Given the description of an element on the screen output the (x, y) to click on. 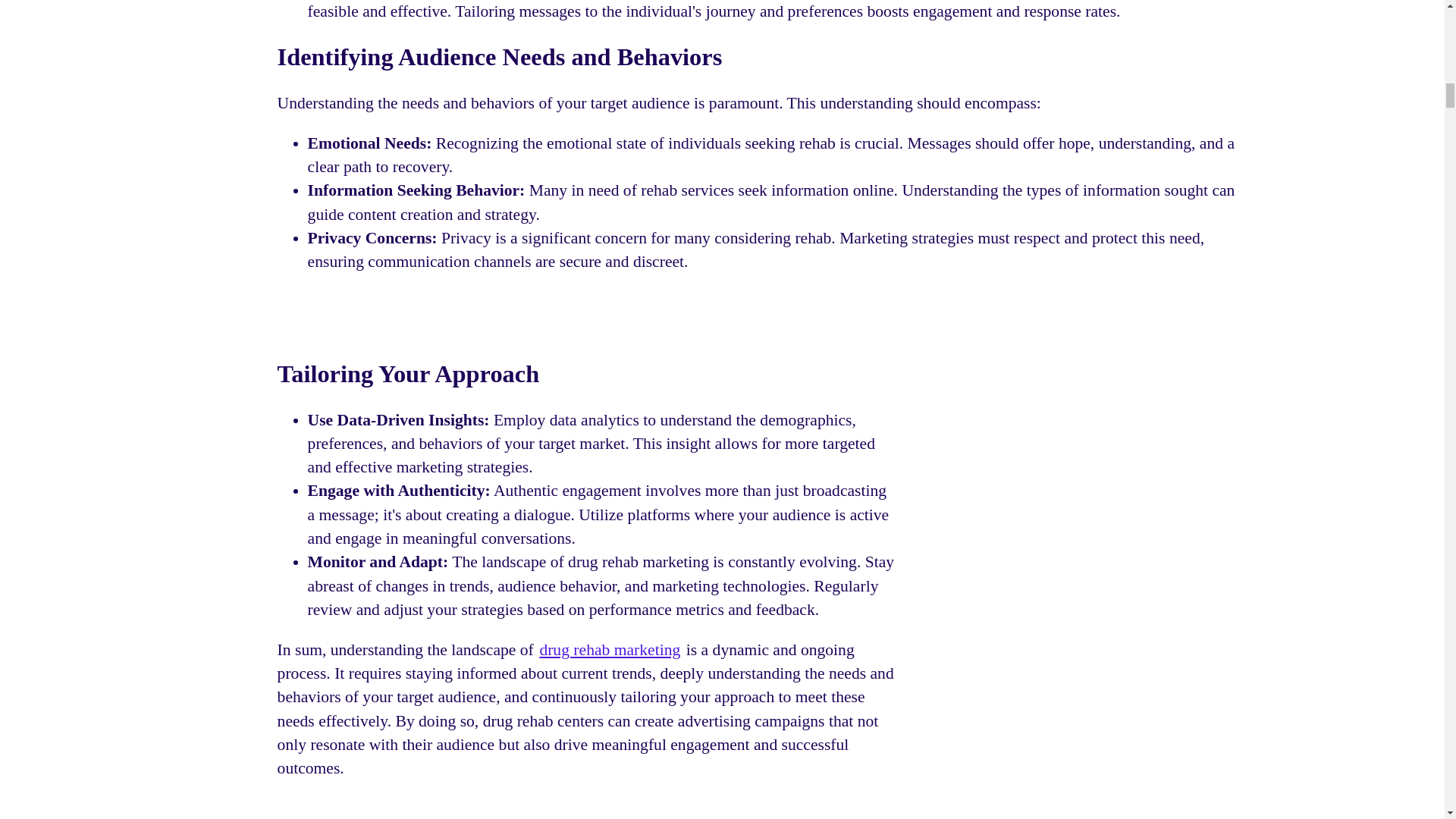
drug rehab marketing (609, 649)
